Given the description of an element on the screen output the (x, y) to click on. 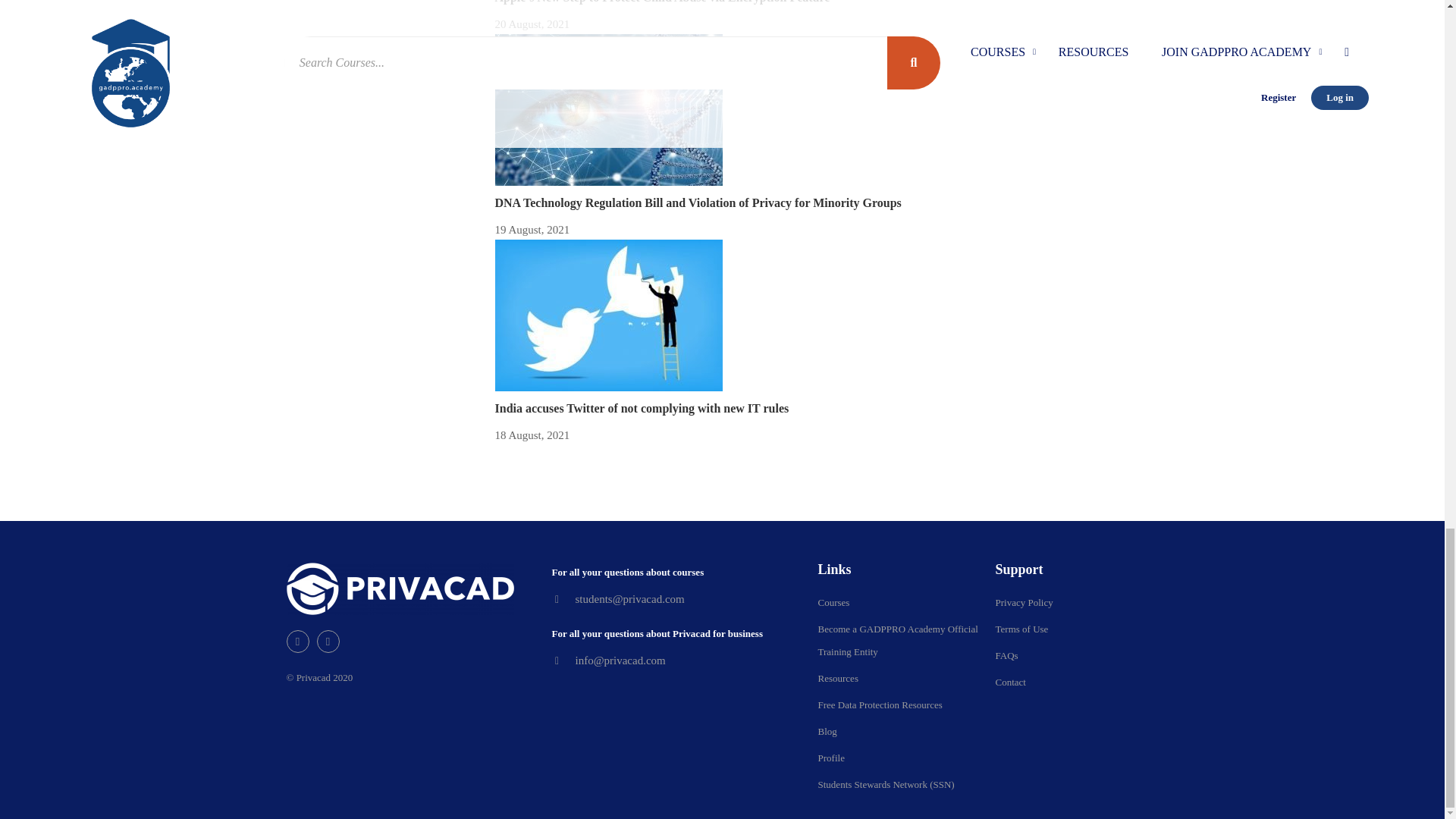
www.privacad.com (608, 315)
DNA Technology and Privacy www.privacad.com (608, 109)
India accuses Twitter of not complying with new IT rules (642, 408)
